Given the description of an element on the screen output the (x, y) to click on. 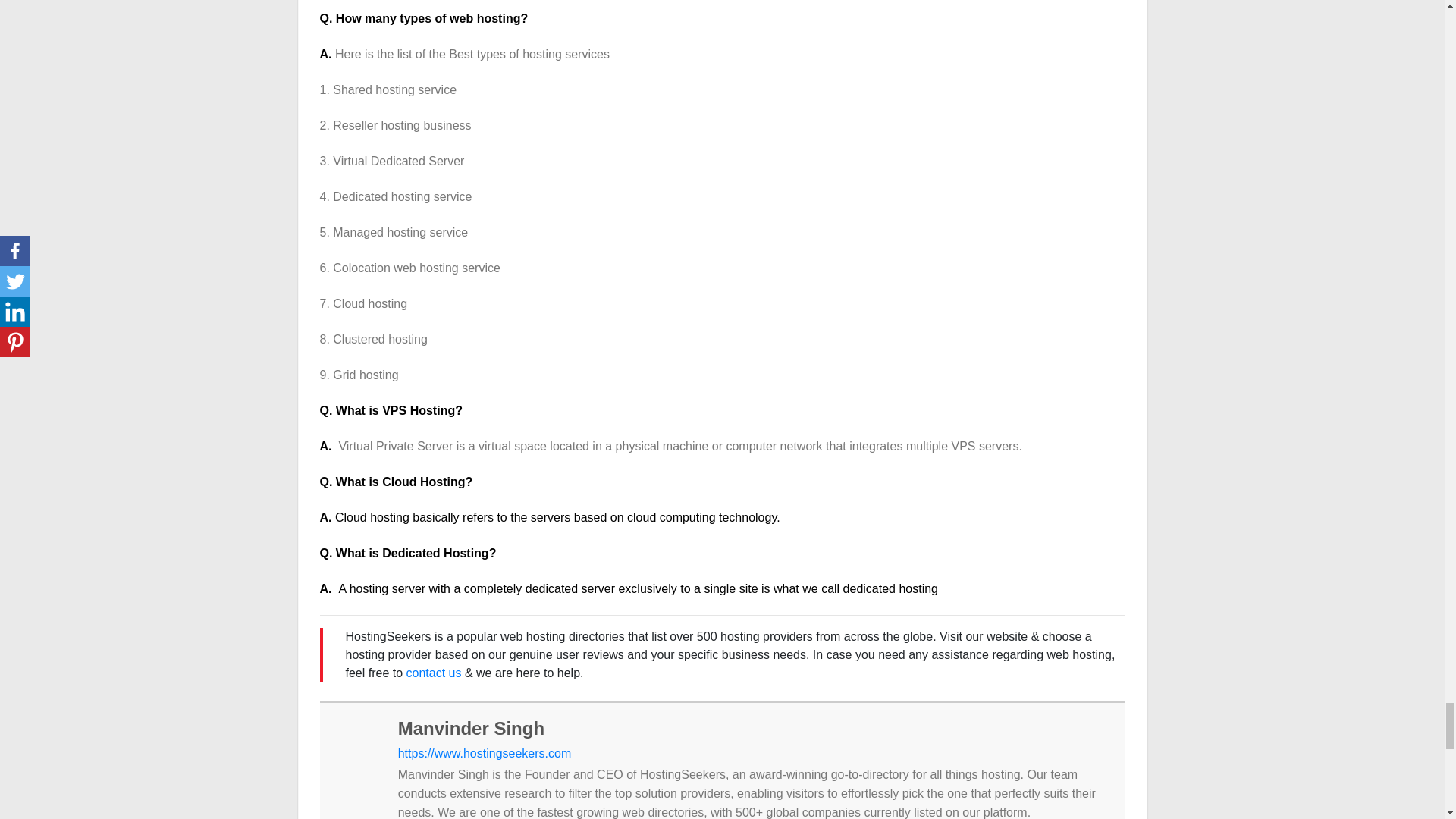
All posts by seodeveloper (470, 728)
Manvinder Singh (470, 728)
contact us (433, 672)
